Given the description of an element on the screen output the (x, y) to click on. 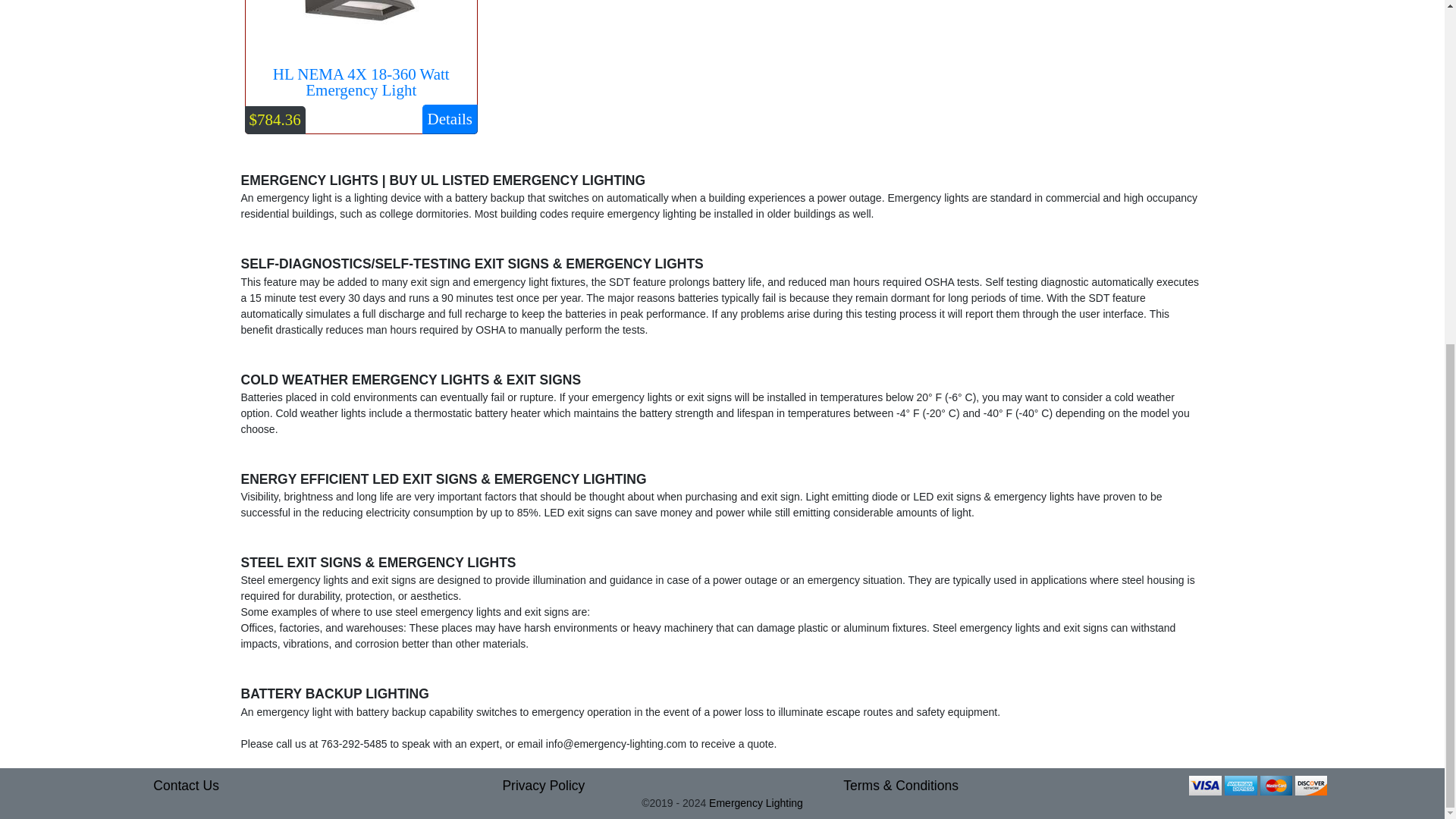
Details (449, 119)
